Given the description of an element on the screen output the (x, y) to click on. 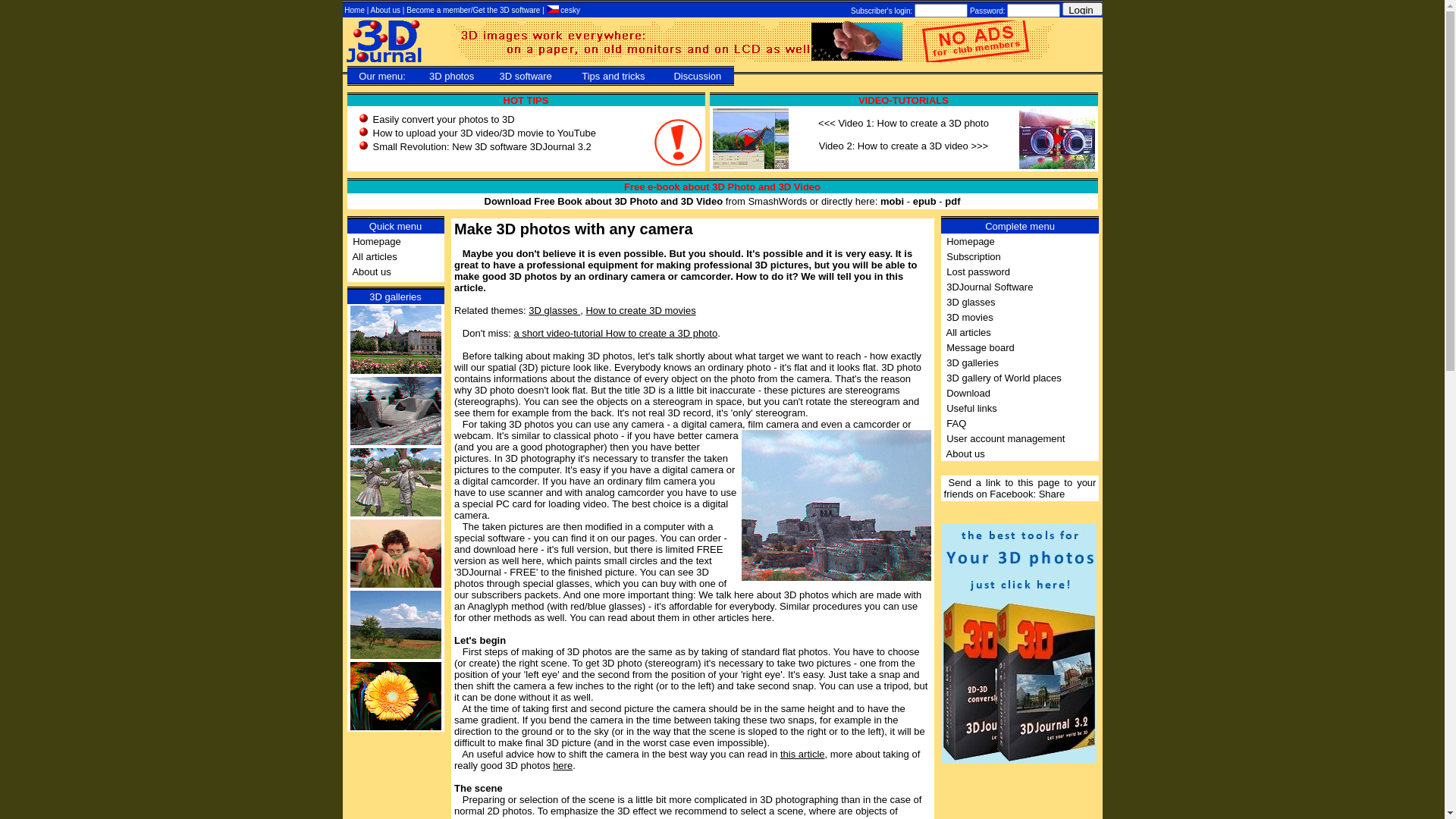
Easily convert your photos to 3D Element type: text (443, 119)
Become a member/Get the 3D software Element type: text (474, 10)
here Element type: text (562, 765)
About us Element type: text (386, 10)
mobi Element type: text (891, 201)
Homepage Element type: text (970, 240)
How to create 3D movies Element type: text (640, 310)
FAQ Element type: text (956, 422)
Subscription Element type: text (973, 255)
About us Element type: text (370, 270)
Download Element type: text (968, 392)
All articles Element type: text (373, 255)
Small Revolution: New 3D software 3DJournal 3.2 Element type: text (482, 146)
epub Element type: text (924, 201)
Homepage Element type: text (376, 240)
User account management Element type: text (1005, 437)
<<< Video 1: How to create a 3D photo Element type: text (903, 122)
3D galleries Element type: text (395, 296)
3D glasses Element type: text (554, 310)
3D movies Element type: text (969, 316)
All articles Element type: text (968, 331)
3D glasses Element type: text (970, 301)
Message board Element type: text (980, 346)
3D photos Element type: text (451, 75)
Tips and tricks Element type: text (612, 75)
3DJournal Software Element type: text (989, 285)
a short video-tutorial How to create a 3D photo Element type: text (615, 332)
Lost password Element type: text (978, 270)
How to upload your 3D video/3D movie to YouTube Element type: text (484, 132)
 cesky Element type: text (563, 10)
About us Element type: text (965, 452)
Video 2: How to create a 3D video >>> Element type: text (903, 145)
3D software Element type: text (524, 75)
this article Element type: text (802, 753)
Useful links Element type: text (971, 407)
3D galleries Element type: text (972, 361)
Discussion Element type: text (697, 75)
Share Element type: text (1051, 493)
Home Element type: text (355, 10)
pdf Element type: text (952, 201)
3D gallery of World places Element type: text (1003, 376)
